Given the description of an element on the screen output the (x, y) to click on. 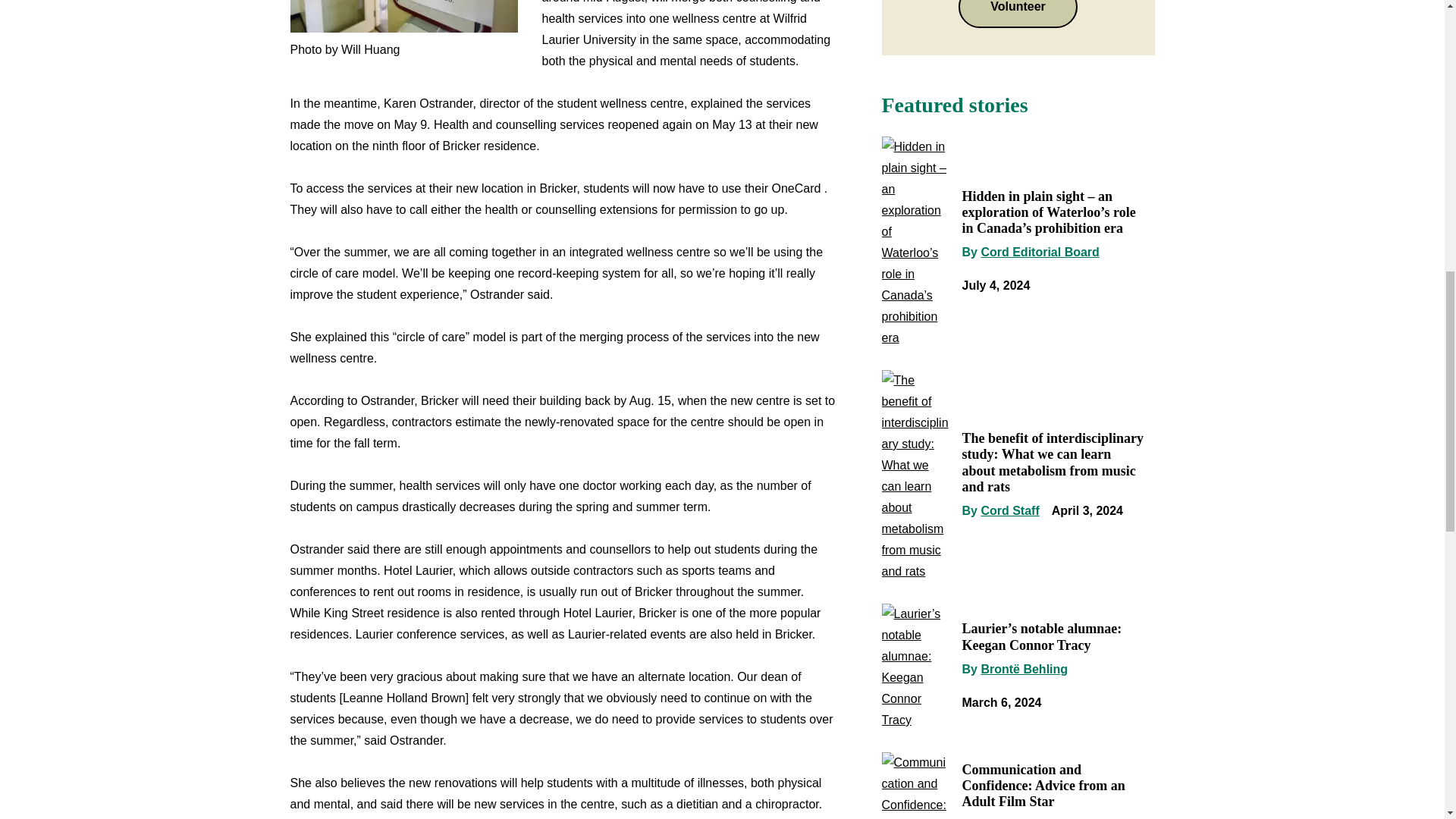
Posts by Cord Editorial Board (1039, 251)
Posts by Cord Staff (1009, 510)
